Given the description of an element on the screen output the (x, y) to click on. 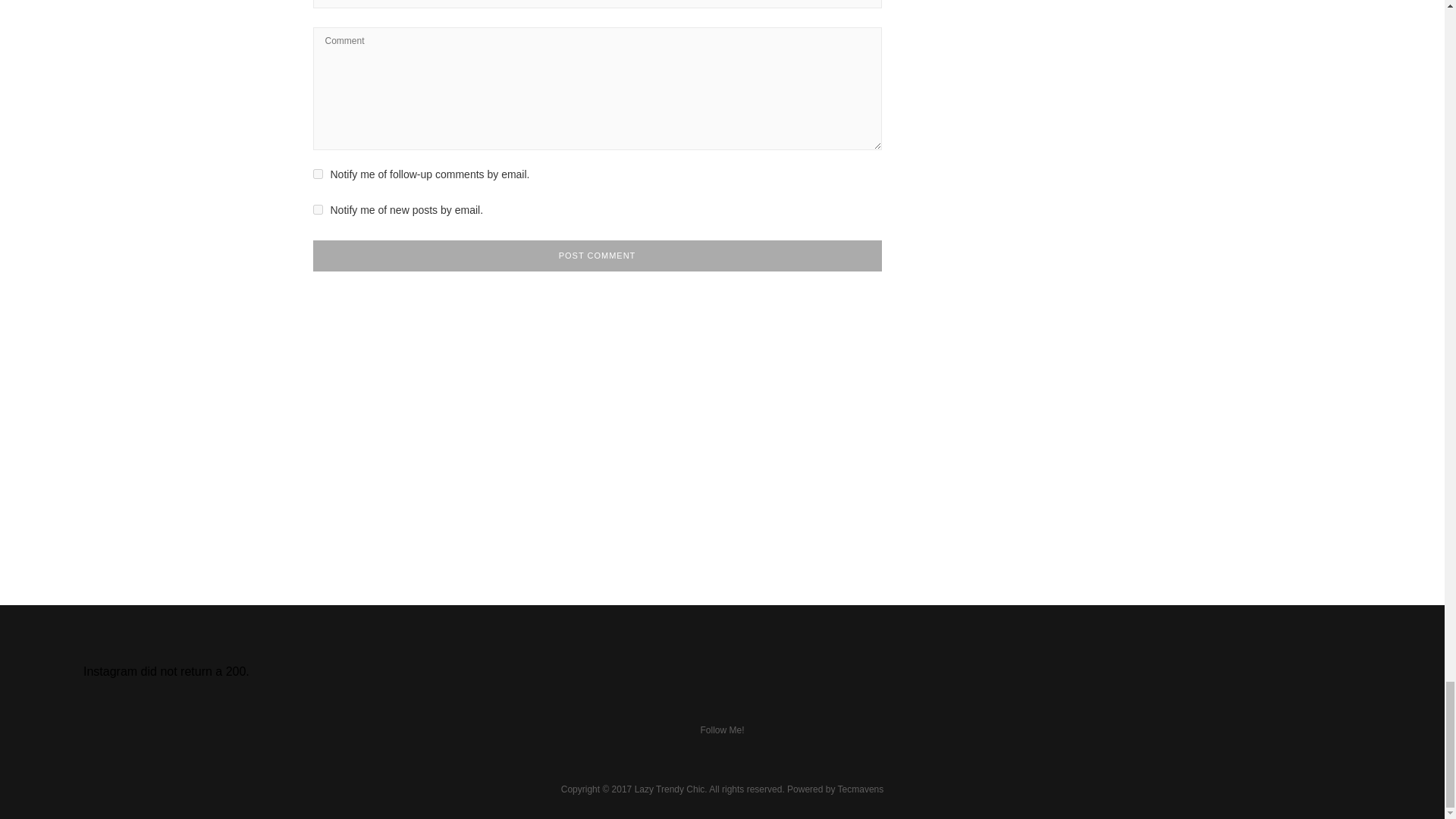
subscribe (317, 209)
subscribe (317, 173)
Post Comment (596, 255)
